Given the description of an element on the screen output the (x, y) to click on. 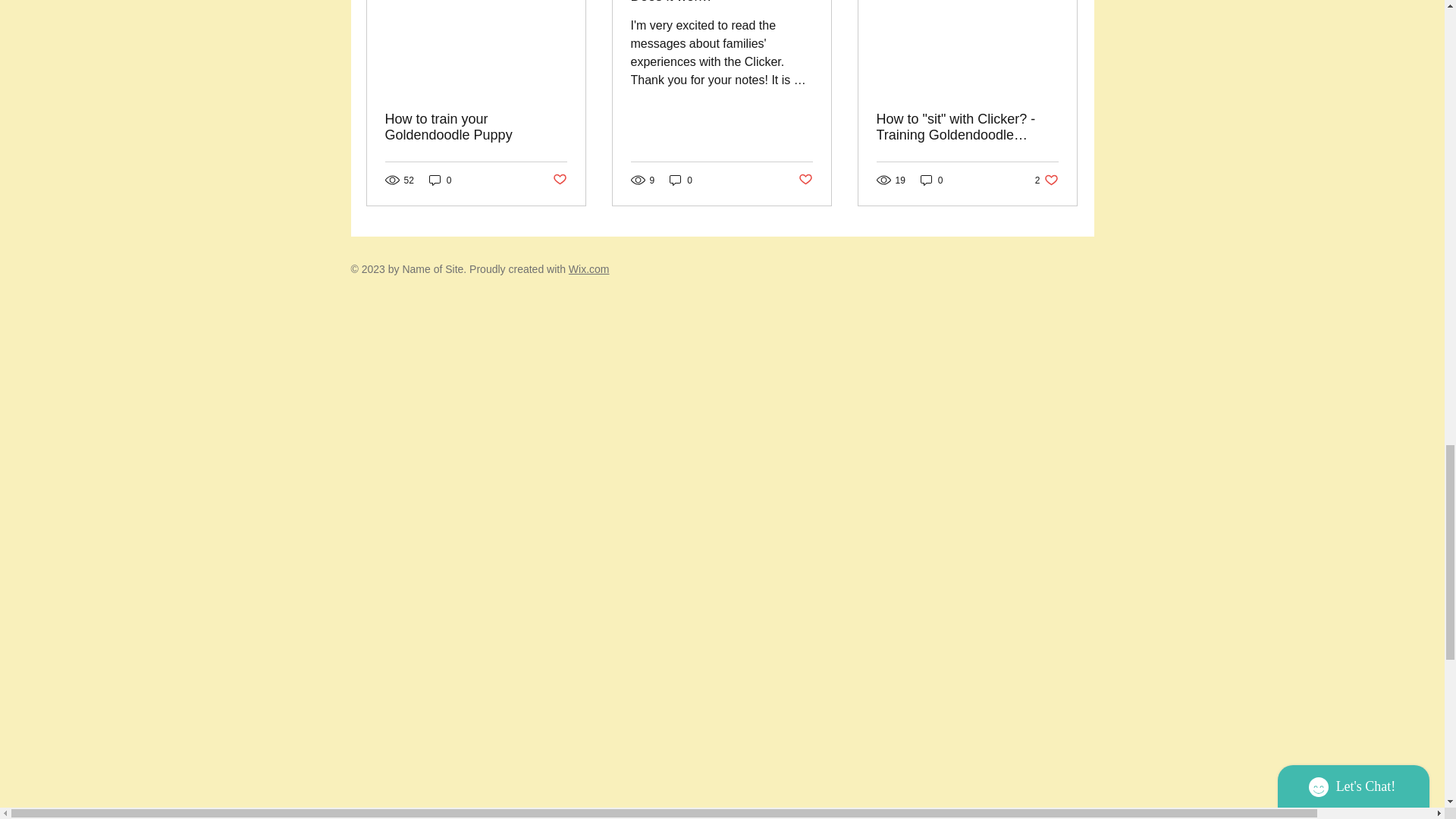
How to train your Goldendoodle Puppy (476, 127)
0 (681, 179)
0 (1046, 179)
Wix.com (931, 179)
Post not marked as liked (589, 268)
0 (804, 179)
Does it work? (440, 179)
Post not marked as liked (721, 2)
How to "sit" with Clicker? - Training Goldendoodle puppies (558, 179)
